Given the description of an element on the screen output the (x, y) to click on. 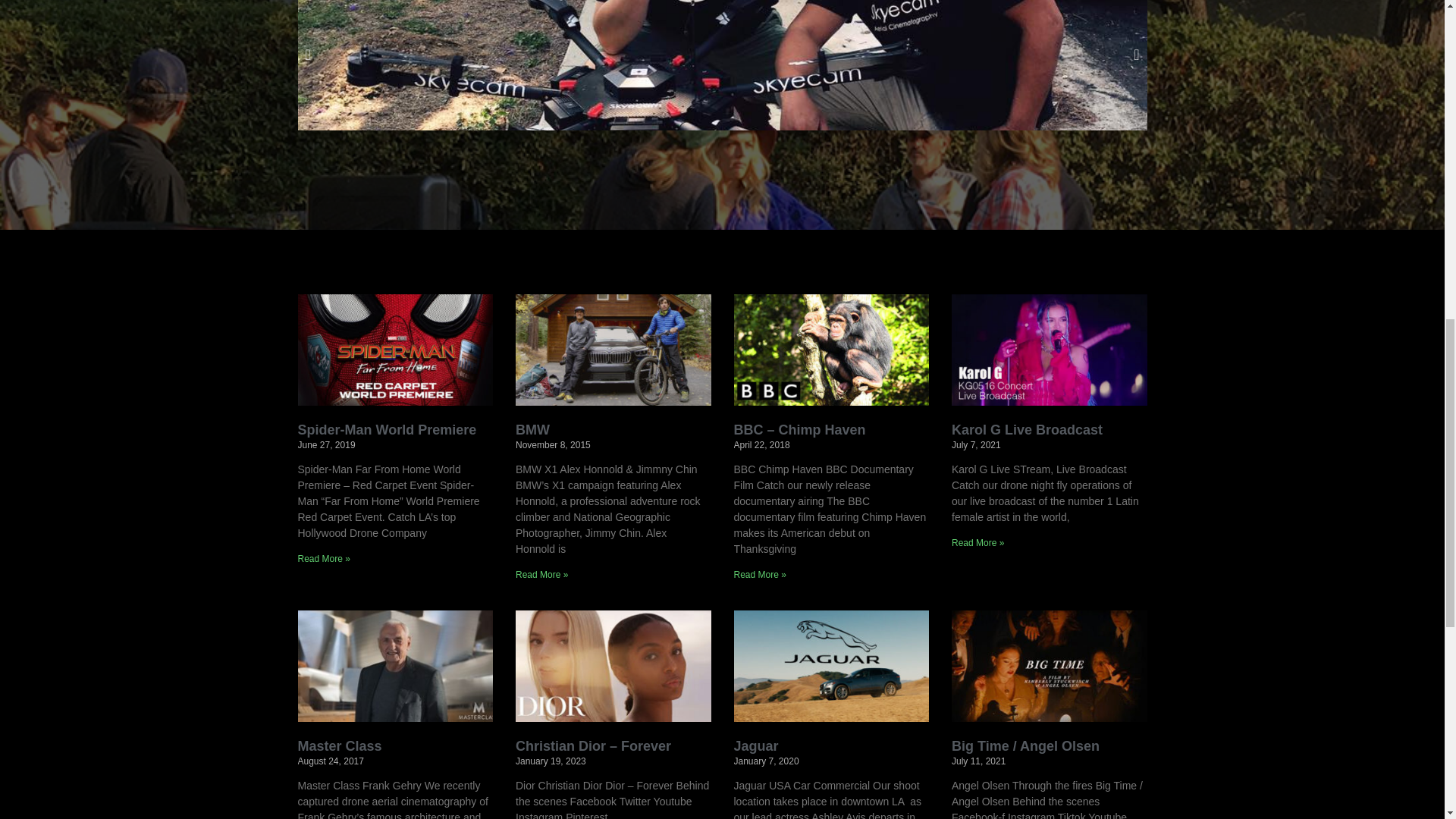
Karol G Live Broadcast (1027, 429)
BMW (532, 429)
Master Class (339, 745)
Spider-Man World Premiere (386, 429)
